Given the description of an element on the screen output the (x, y) to click on. 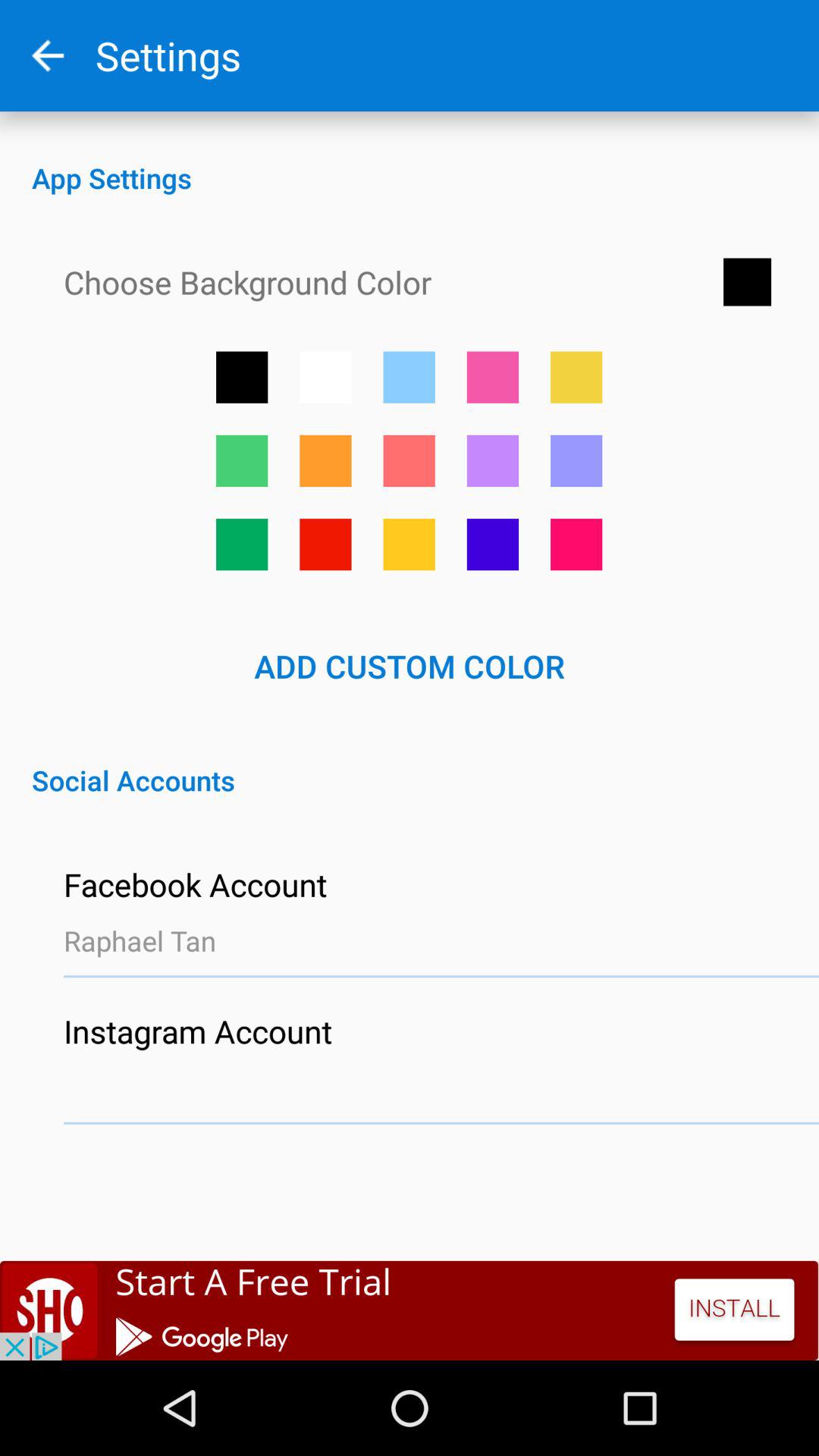
set background color to red (325, 544)
